Given the description of an element on the screen output the (x, y) to click on. 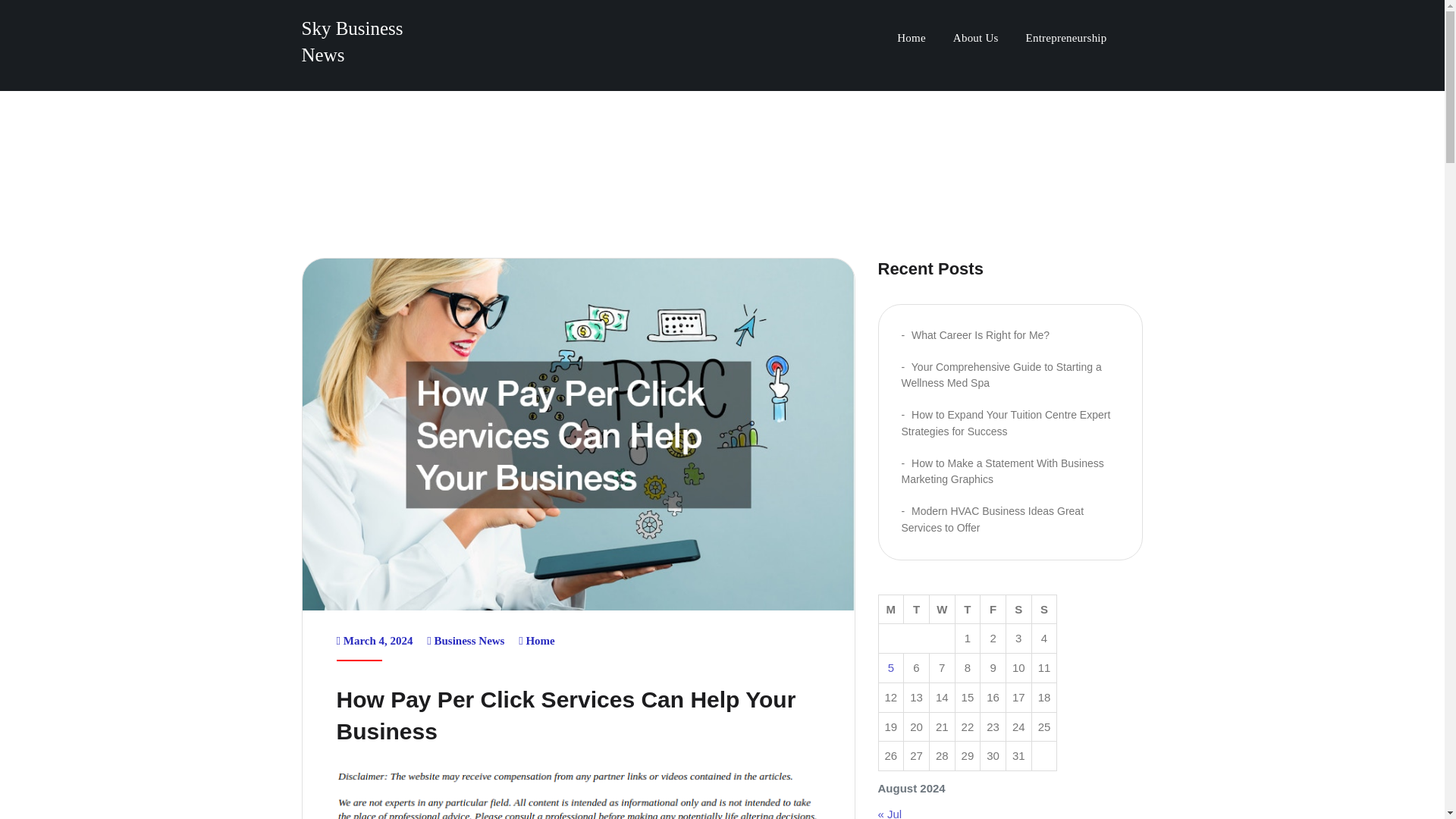
Home (539, 640)
Friday (992, 609)
Wednesday (941, 609)
Business News (469, 640)
Posts by Business News (469, 640)
Home (911, 38)
Entrepreneurship (1066, 38)
Sky Business News (352, 41)
Monday (890, 609)
Your Comprehensive Guide to Starting a Wellness Med Spa (1000, 375)
How to Make a Statement With Business Marketing Graphics (1002, 471)
About Us (975, 38)
5 (890, 667)
